Given the description of an element on the screen output the (x, y) to click on. 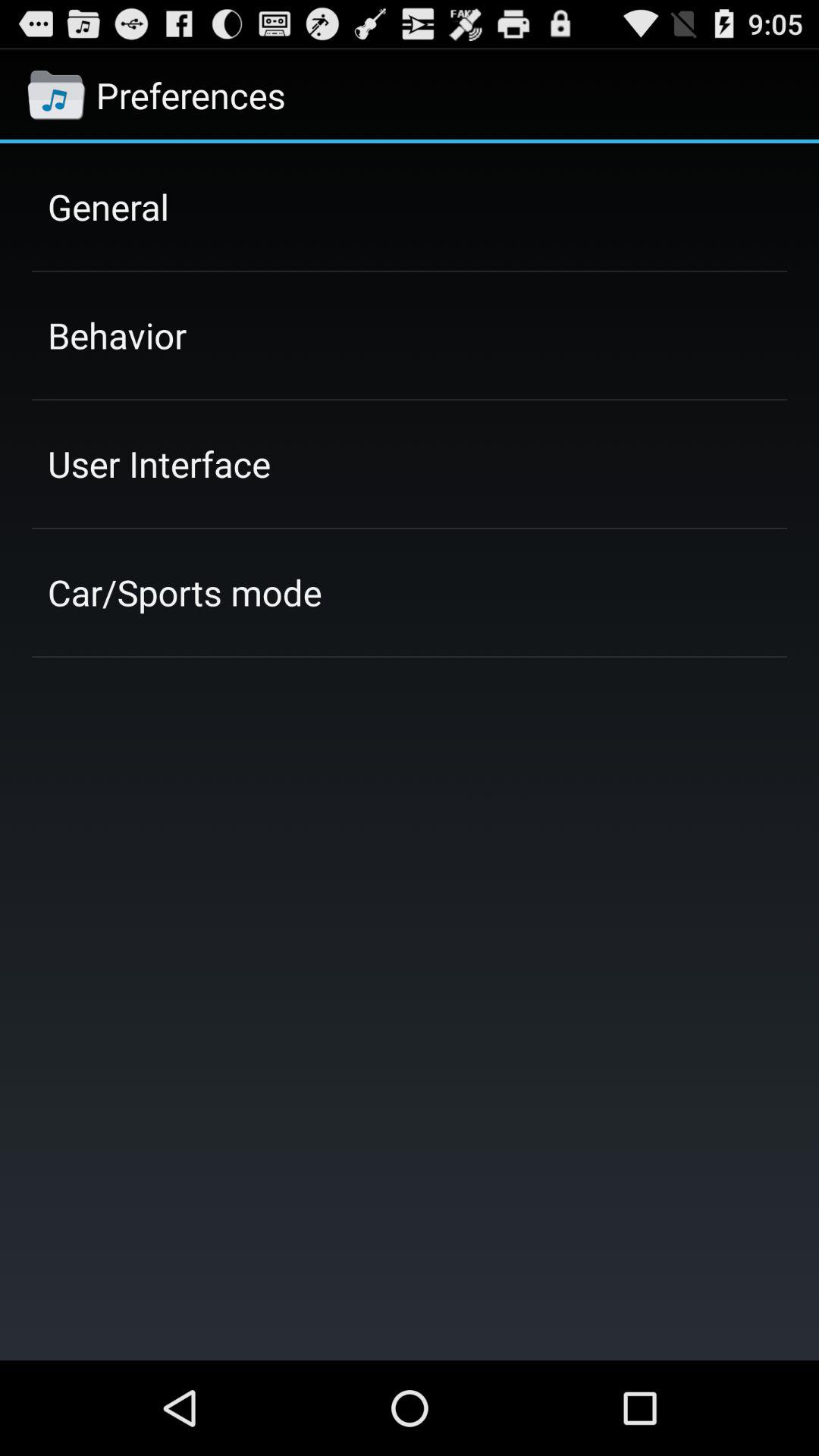
turn on the app below the user interface item (184, 592)
